Given the description of an element on the screen output the (x, y) to click on. 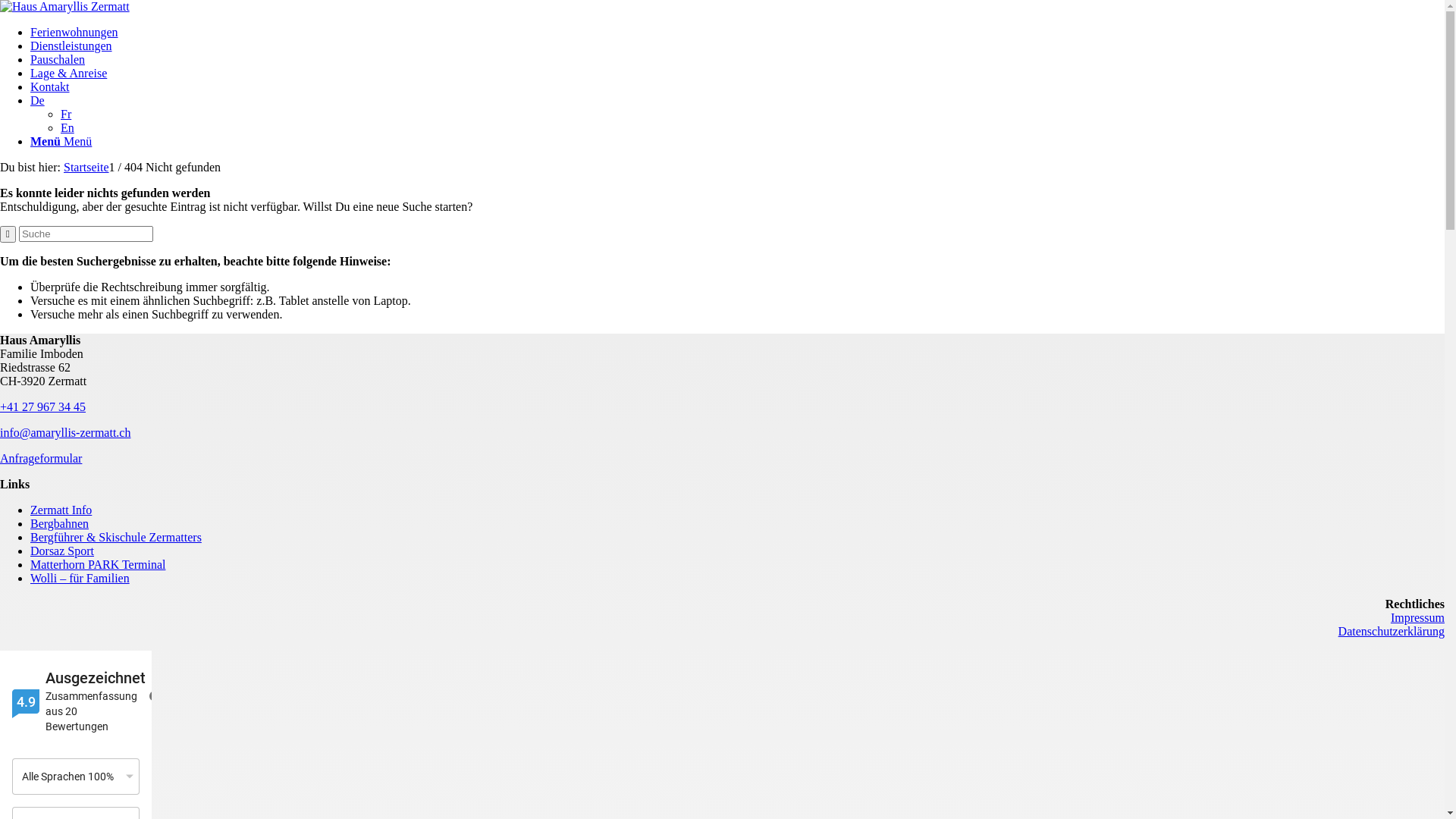
Fr Element type: text (65, 113)
Impressum Element type: text (1417, 617)
info@amaryllis-zermatt.ch Element type: text (65, 432)
Zermatt Info Element type: text (60, 509)
En Element type: text (67, 127)
Lage & Anreise Element type: text (68, 72)
logo_amaryllis_rgb Element type: hover (64, 6)
De Element type: text (37, 100)
logo_amaryllis_rgb Element type: hover (64, 6)
Ferienwohnungen Element type: text (74, 31)
Startseite Element type: text (86, 166)
Dienstleistungen Element type: text (71, 45)
Kontakt Element type: text (49, 86)
Matterhorn PARK Terminal Element type: text (97, 564)
Pauschalen Element type: text (57, 59)
Anfrageformular Element type: text (40, 457)
+41 27 967 34 45 Element type: text (42, 406)
Bergbahnen Element type: text (59, 523)
Dorsaz Sport Element type: text (62, 550)
